Given the description of an element on the screen output the (x, y) to click on. 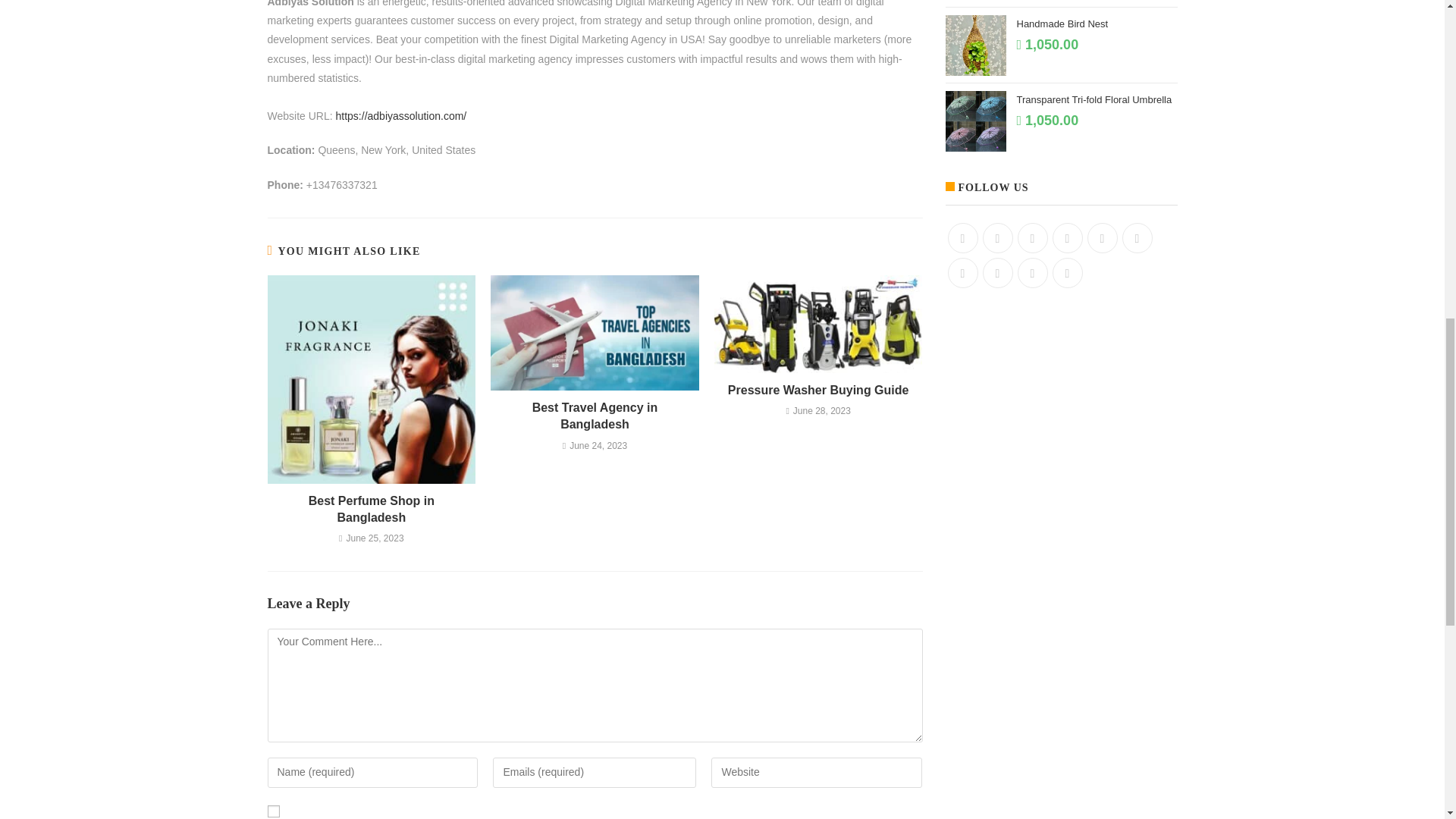
Best Perfume Shop in Bangladesh (370, 510)
Best Travel Agency in Bangladesh (594, 416)
Best Perfume Shop in Bangladesh (370, 510)
Best Travel Agency in Bangladesh (594, 416)
Pressure Washer Buying Guide (818, 390)
yes (272, 811)
Pressure Washer Buying Guide (818, 390)
